Given the description of an element on the screen output the (x, y) to click on. 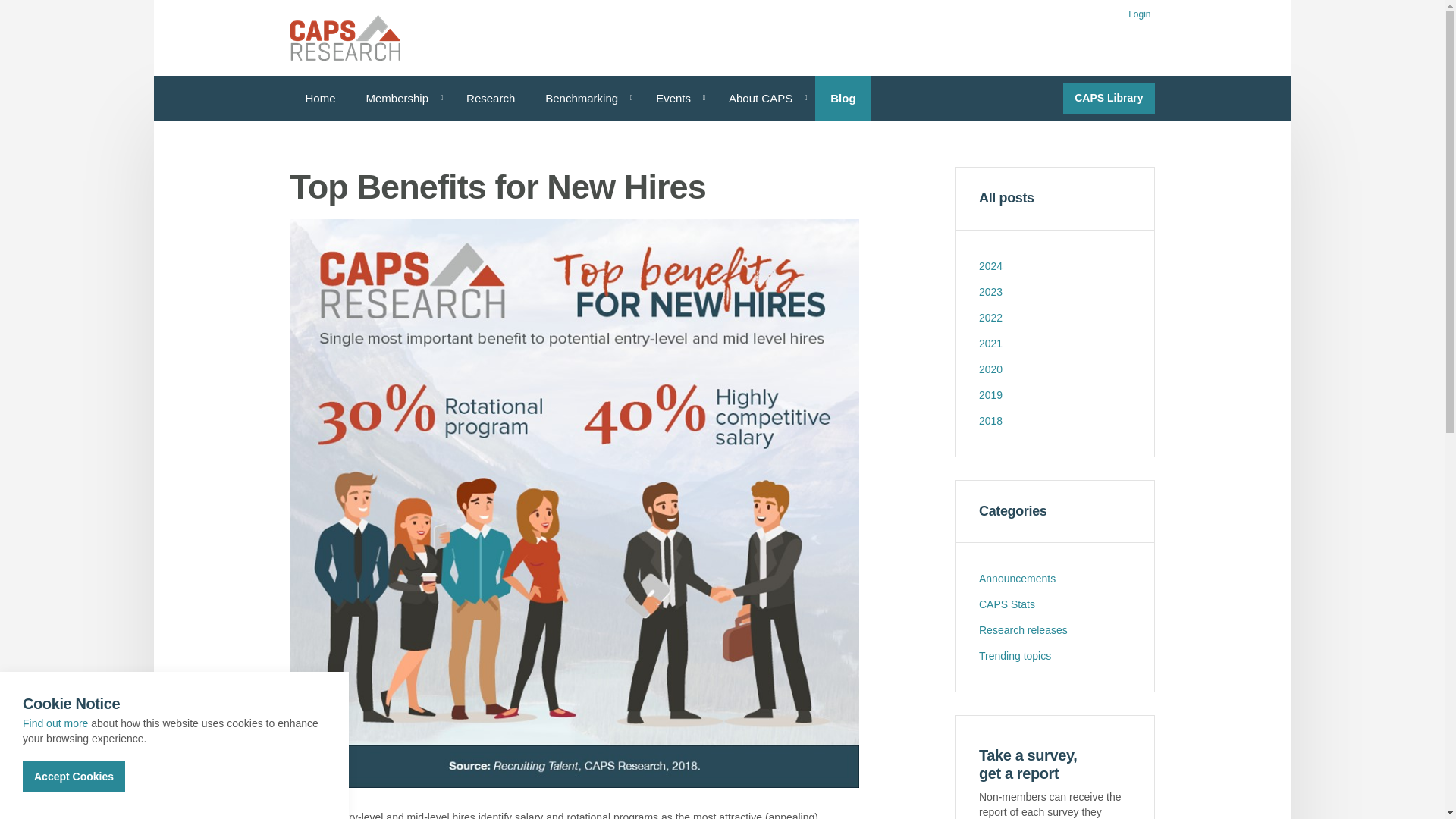
Privacy Policy (55, 723)
2021 (1054, 343)
Research (490, 98)
Membership (400, 98)
CAPS Research (343, 37)
Events (676, 98)
2019 (1054, 394)
All posts (1054, 198)
2020 (1054, 369)
CAPS Library (1108, 97)
2022 (1054, 317)
Skip to the content (721, 12)
2024 (1054, 266)
2018 (1054, 420)
Blog (842, 98)
